Given the description of an element on the screen output the (x, y) to click on. 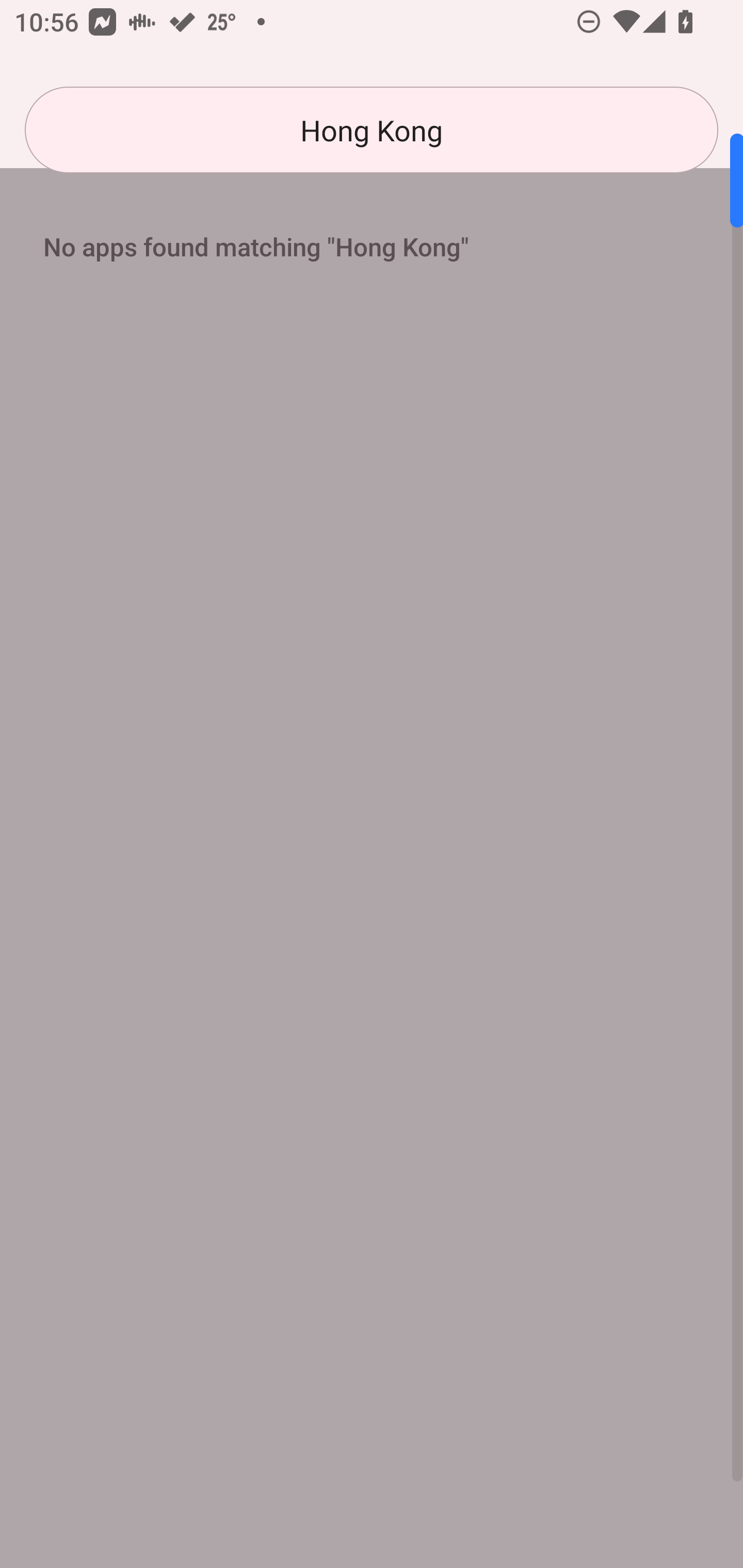
Hong Kong (371, 130)
